Given the description of an element on the screen output the (x, y) to click on. 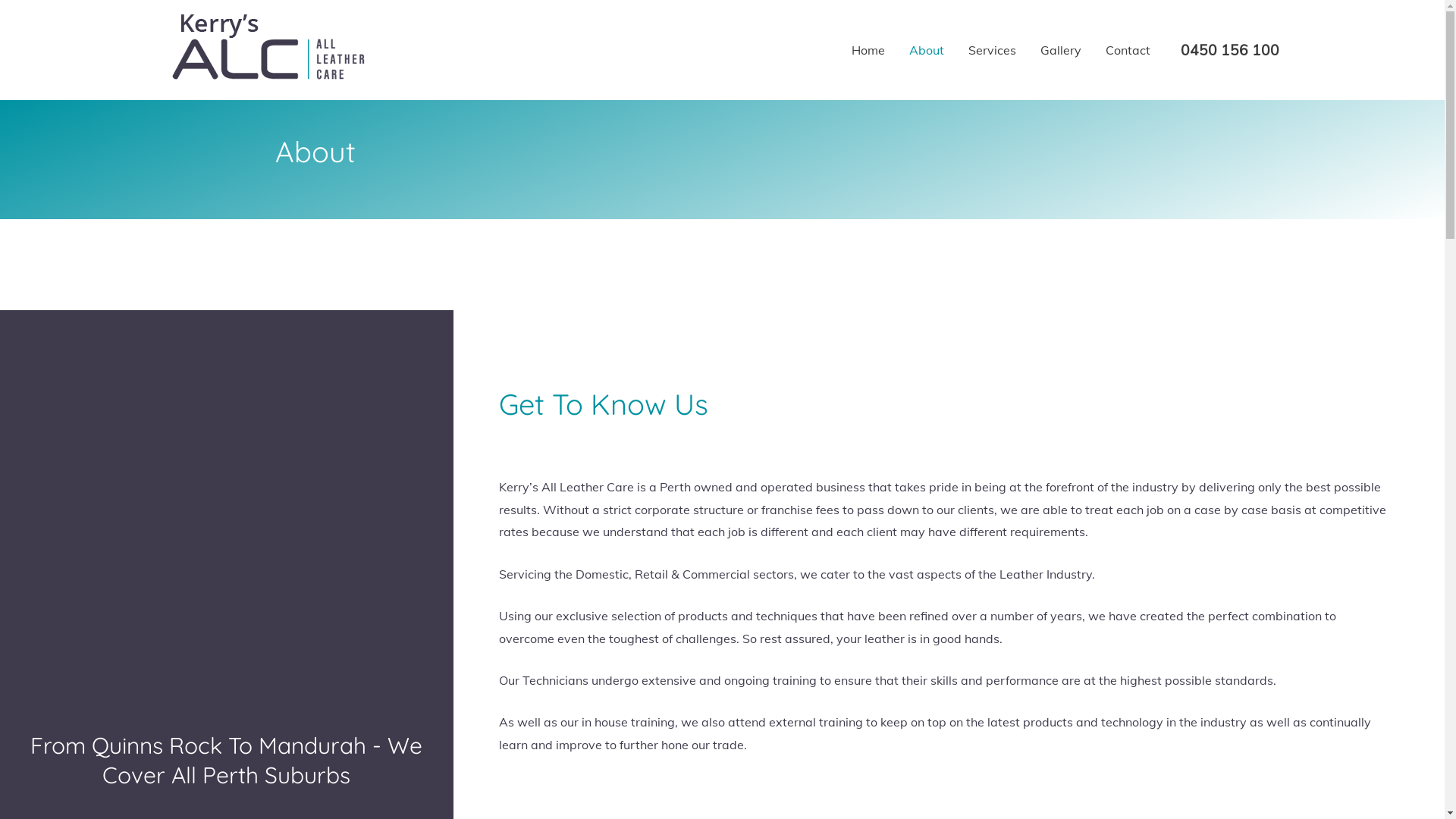
About Element type: text (925, 49)
Services Element type: text (991, 49)
Contact Element type: text (1127, 49)
Perth Element type: hover (226, 483)
Gallery Element type: text (1060, 49)
0450 156 100 Element type: text (1228, 50)
Home Element type: text (867, 49)
